Given the description of an element on the screen output the (x, y) to click on. 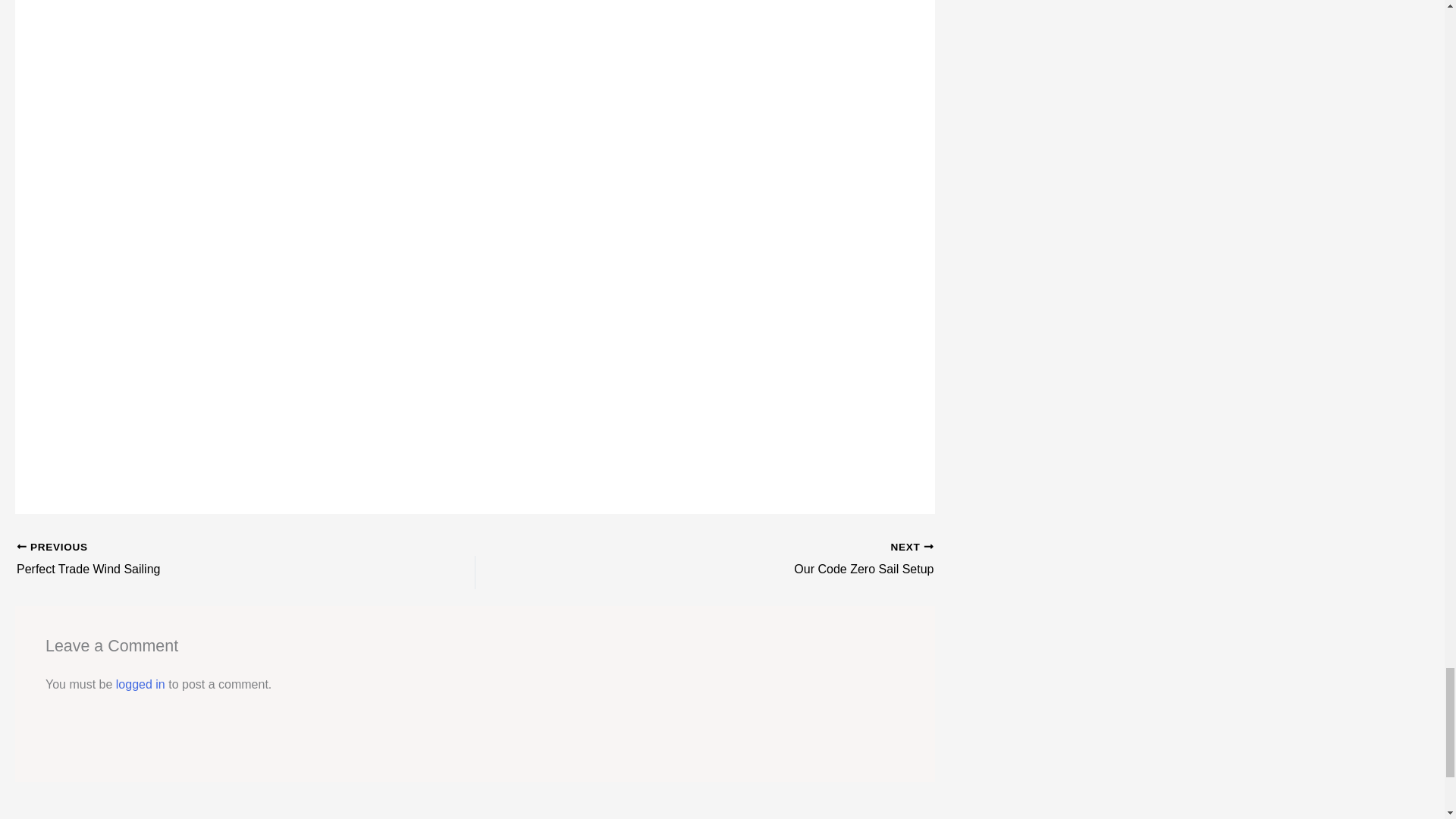
Perfect Trade Wind Sailing (749, 568)
logged in (200, 568)
Our Code Zero Sail Setup (140, 684)
